Given the description of an element on the screen output the (x, y) to click on. 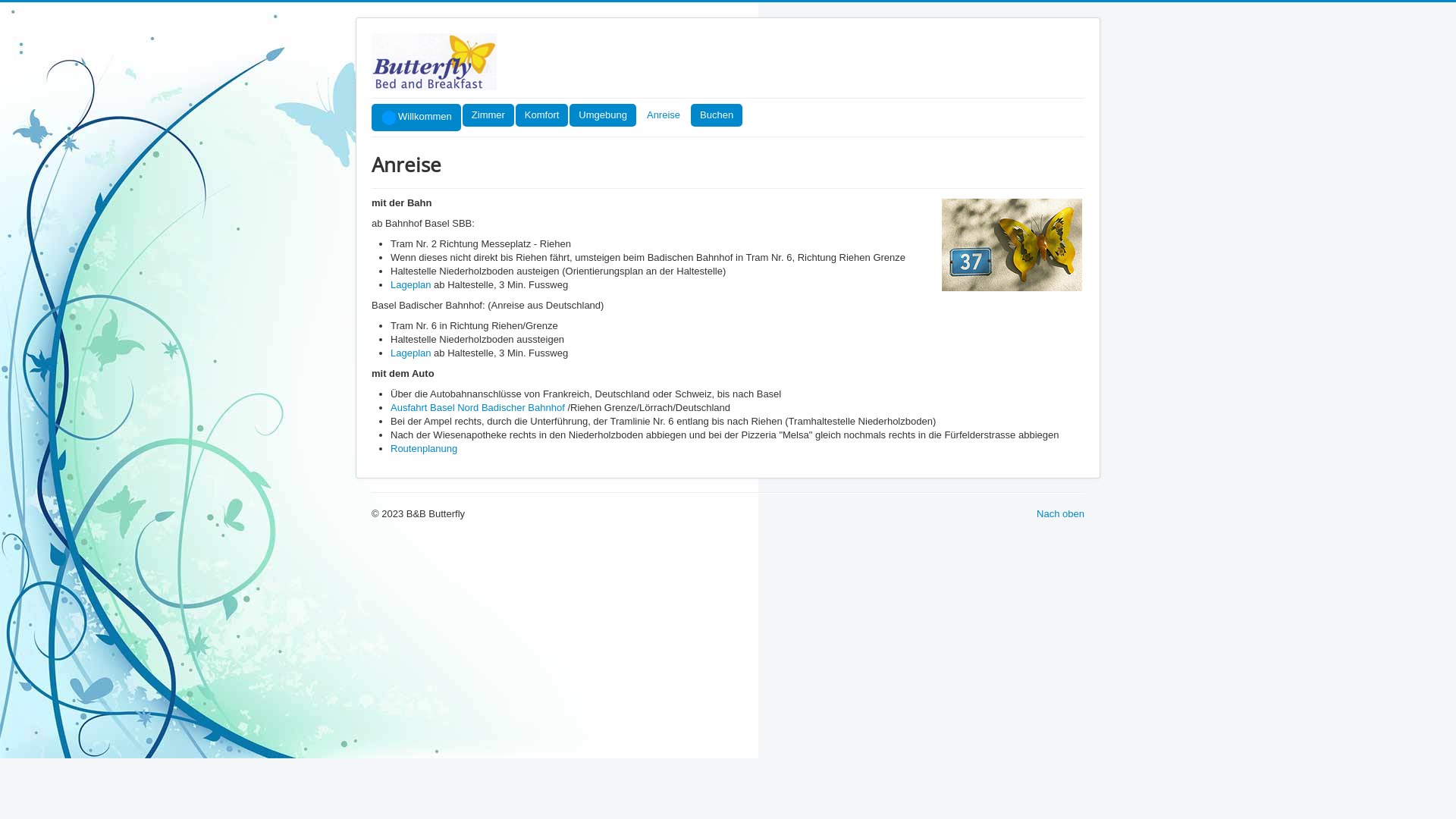
Zimmer Element type: text (488, 114)
Willkommen Element type: text (416, 117)
Lageplan Element type: text (410, 284)
Buchen Element type: text (716, 114)
Nach oben Element type: text (1060, 513)
Komfort Element type: text (541, 114)
Anreise Element type: text (663, 114)
Umgebung Element type: text (602, 114)
Ausfahrt Basel Nord Badischer Bahnhof Element type: text (477, 407)
Lageplan Element type: text (410, 352)
Routenplanung Element type: text (423, 448)
